Given the description of an element on the screen output the (x, y) to click on. 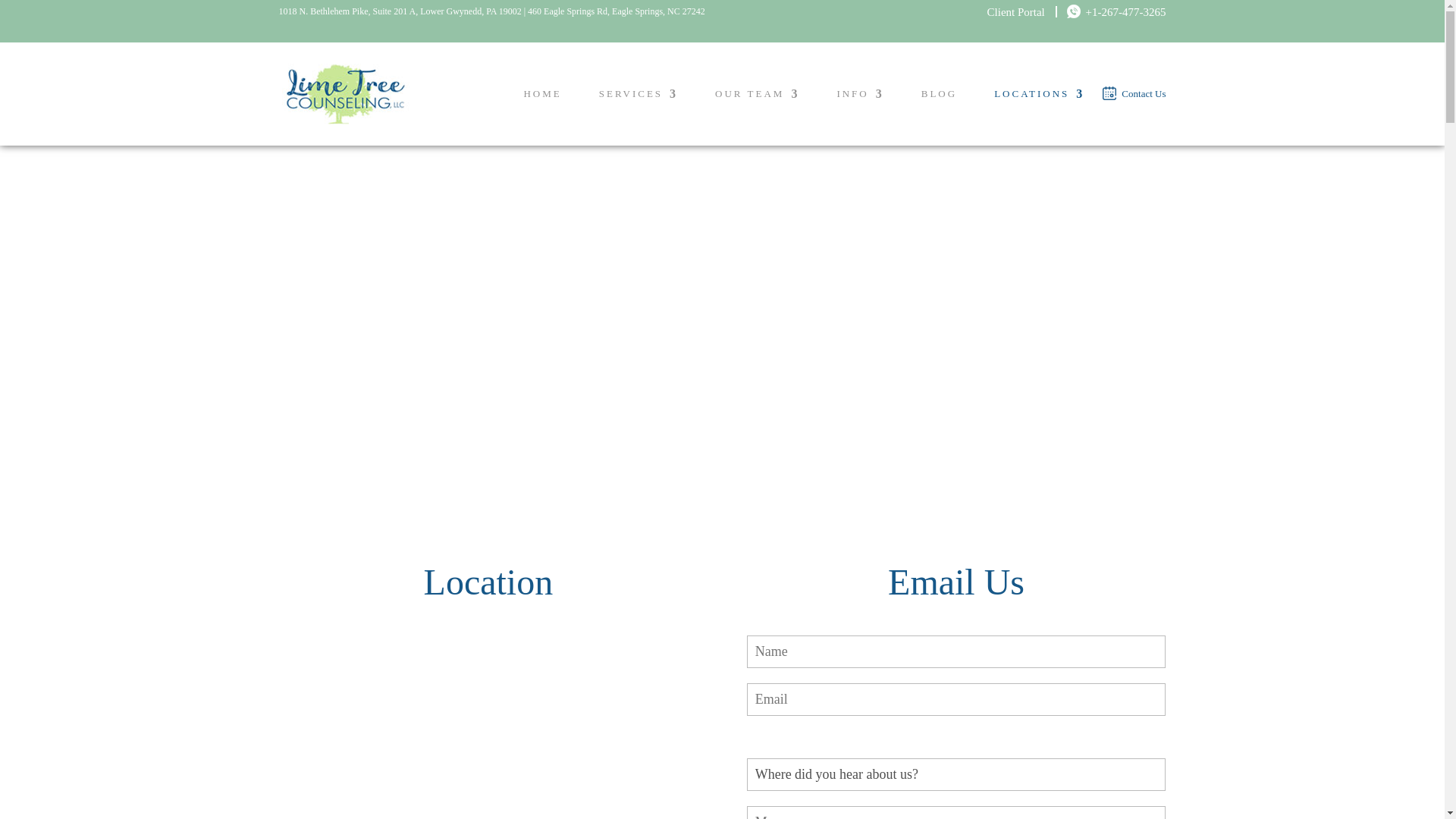
Where did you hear about us? (956, 774)
SERVICES (638, 116)
LOCATIONS (1039, 116)
OUR TEAM (756, 116)
Client Portal (1017, 11)
